Given the description of an element on the screen output the (x, y) to click on. 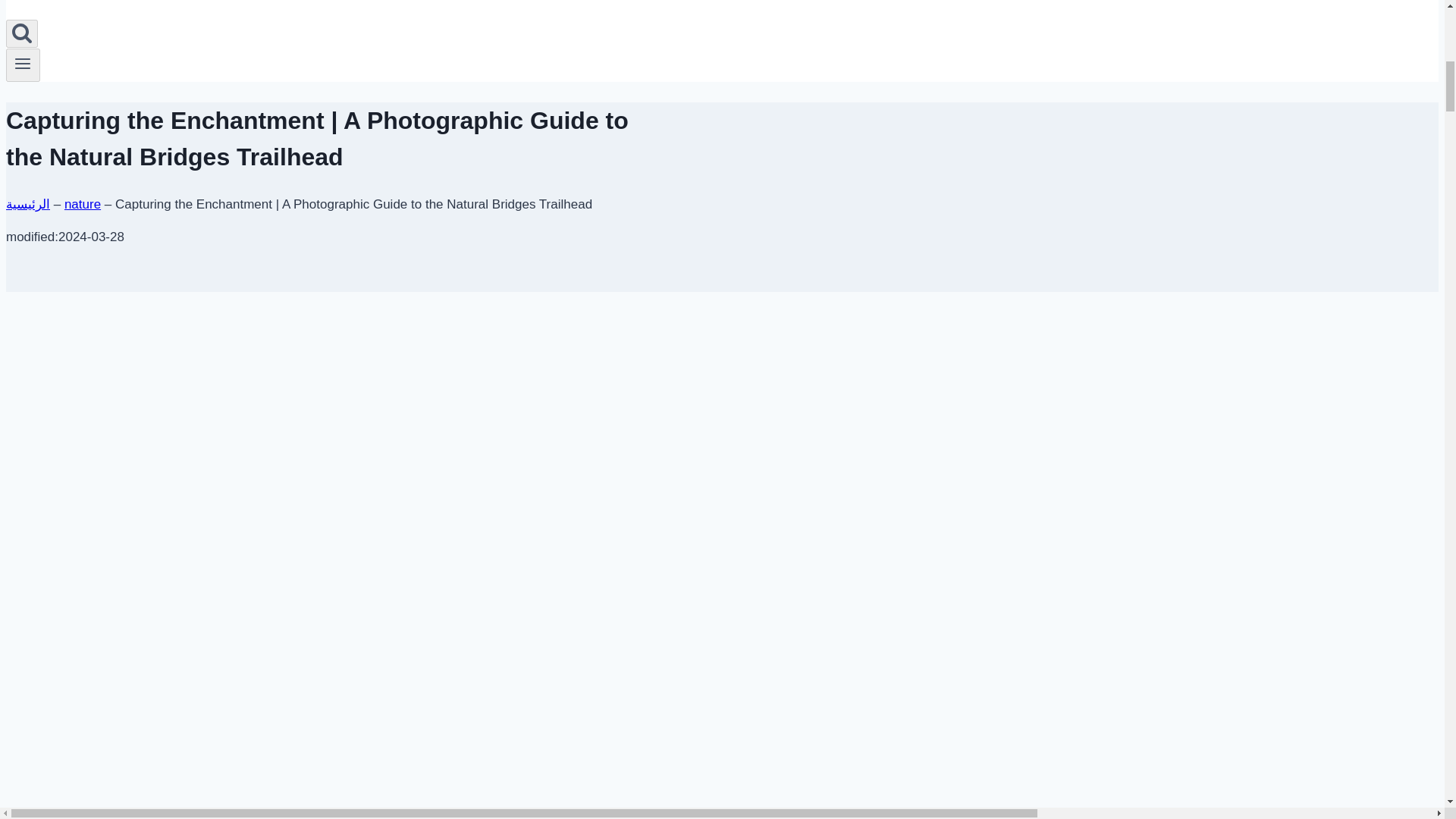
Search (21, 31)
Toggle Menu (22, 64)
Toggle Menu (22, 63)
nature (82, 204)
Search (21, 33)
